Given the description of an element on the screen output the (x, y) to click on. 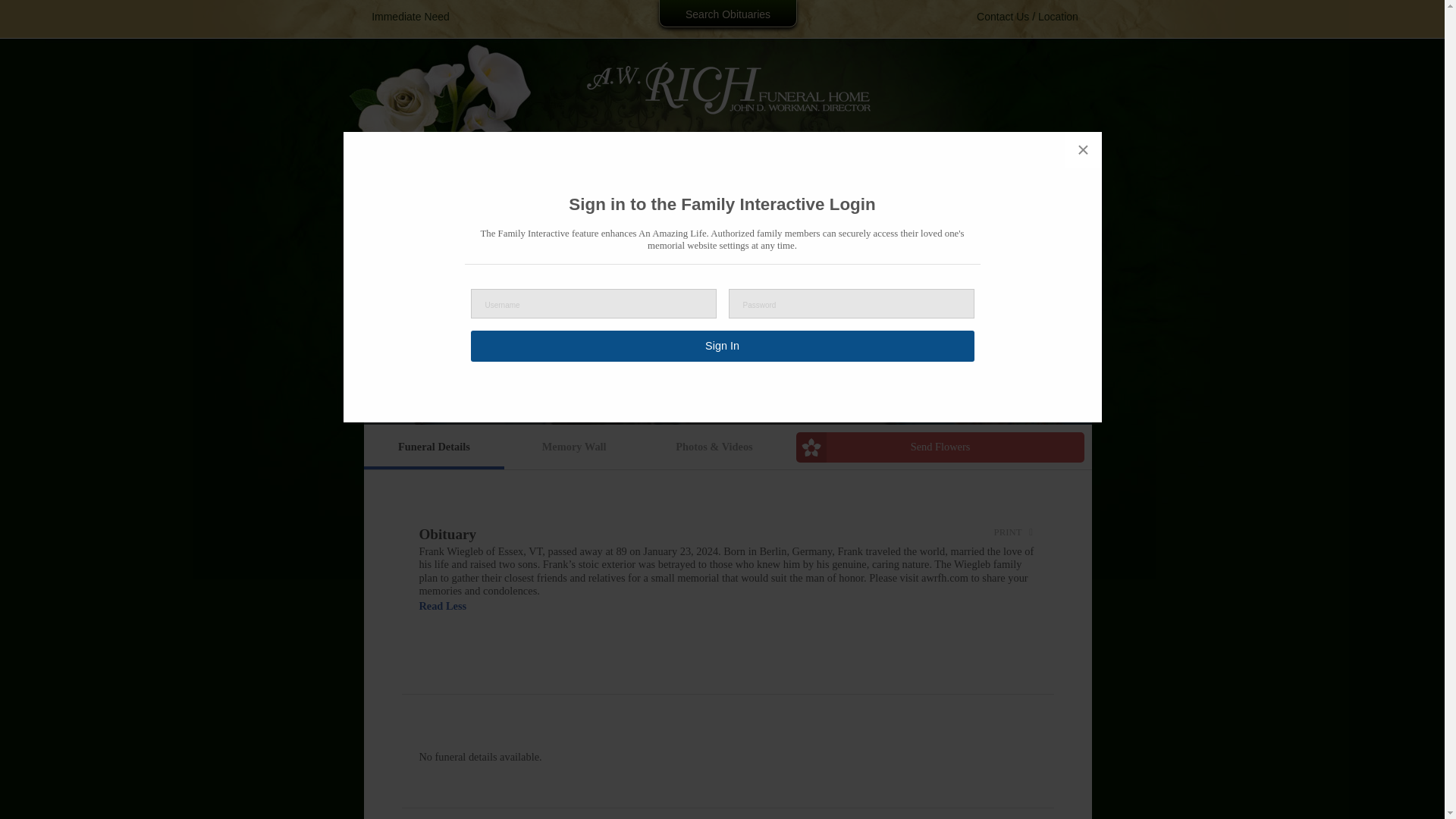
About Us (579, 153)
Home (386, 153)
Obituaries (465, 153)
